Given the description of an element on the screen output the (x, y) to click on. 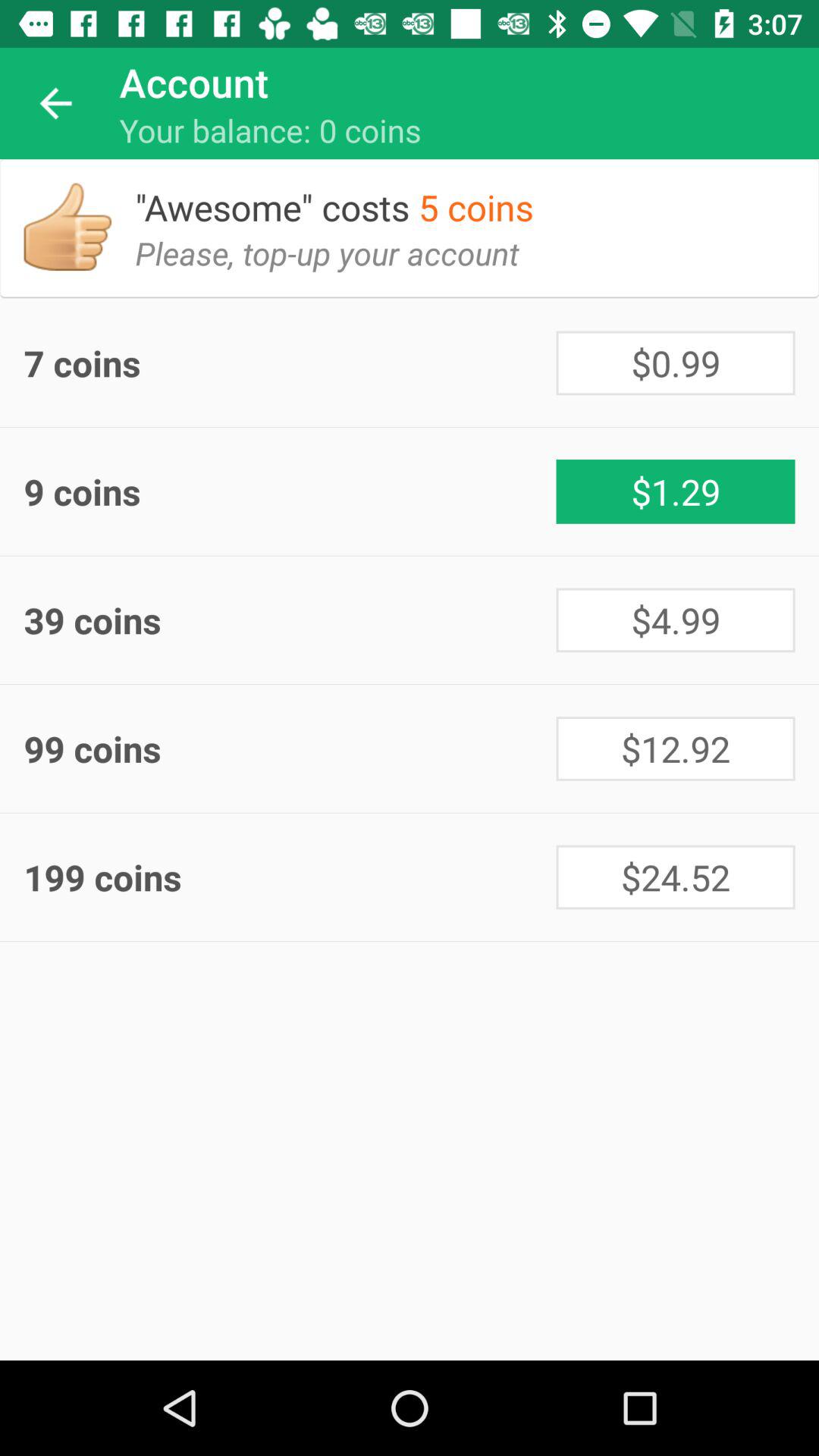
launch the icon below the awesome costs 5 (339, 264)
